Given the description of an element on the screen output the (x, y) to click on. 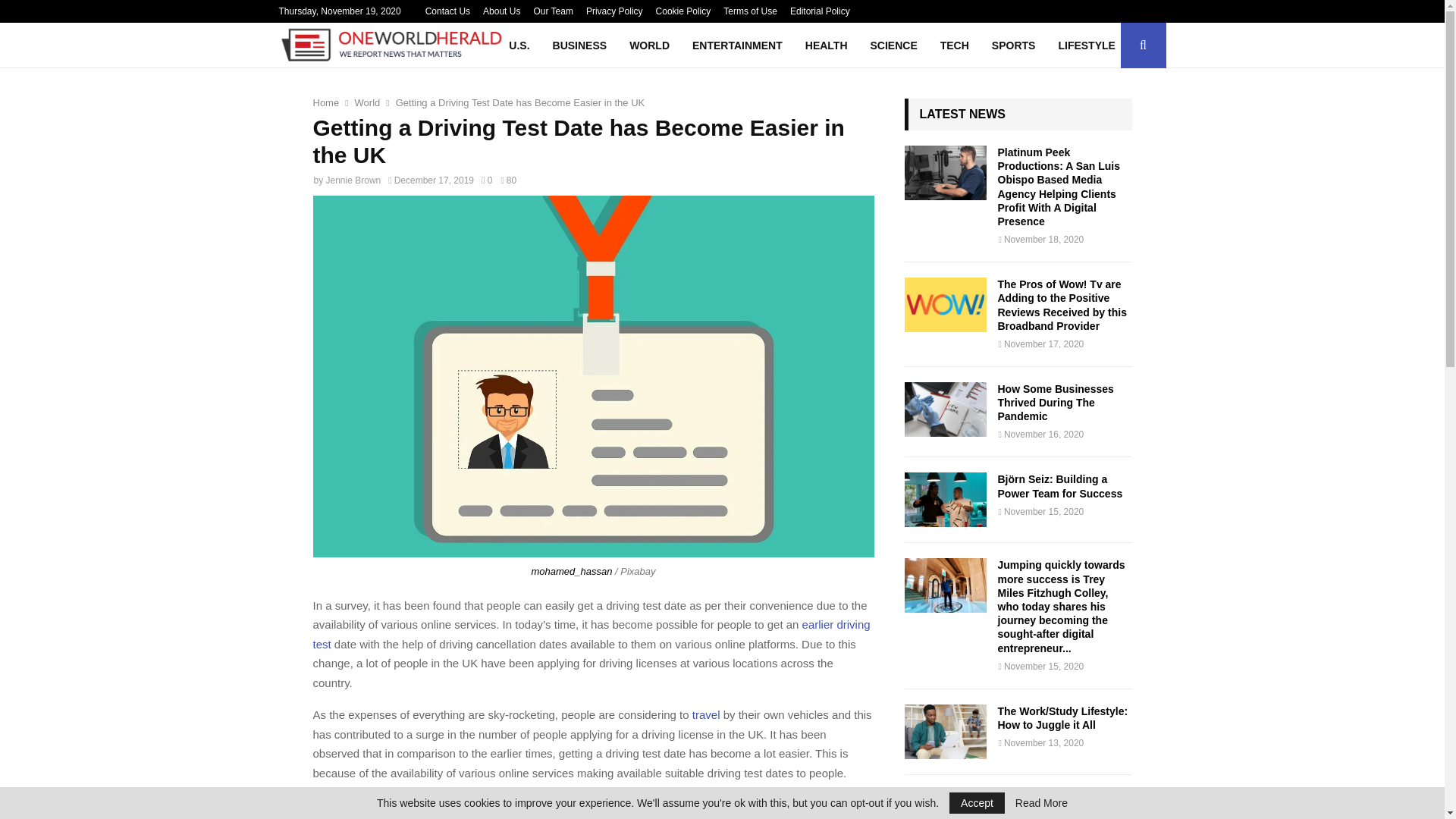
SCIENCE (893, 44)
SPORTS (1013, 44)
Editorial Policy (820, 11)
travel (706, 714)
About Us (501, 11)
earlier driving test (591, 634)
Home (326, 102)
ENTERTAINMENT (738, 44)
HEALTH (826, 44)
Contact Us (447, 11)
U.S. (518, 44)
BUSINESS (580, 44)
